Given the description of an element on the screen output the (x, y) to click on. 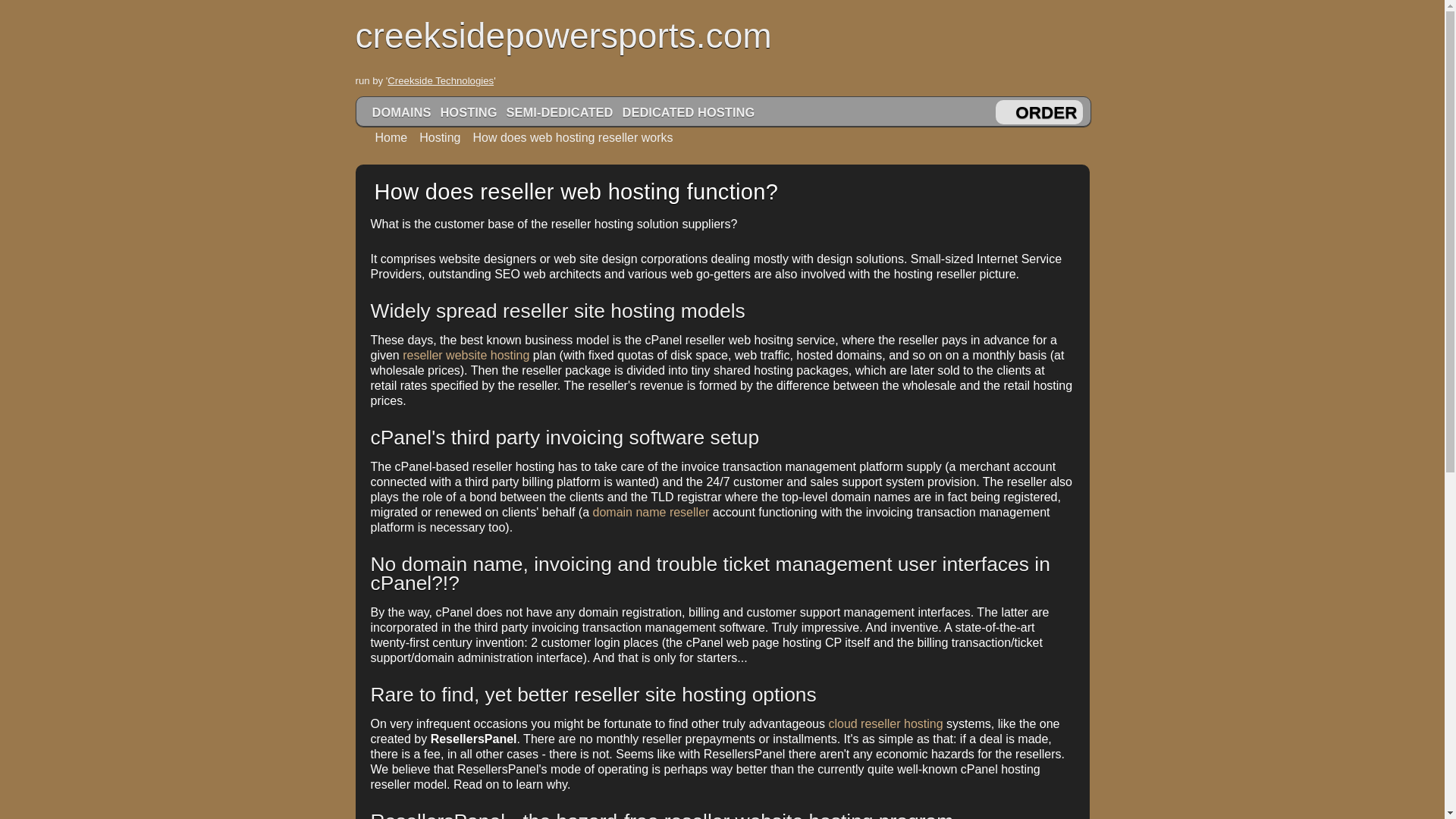
Hosting (433, 137)
reseller website hosting (466, 354)
HOSTING (467, 112)
domain name reseller (651, 512)
Home (384, 137)
cloud reseller hosting (885, 723)
DEDICATED HOSTING (687, 112)
ORDER (1045, 112)
Creekside Technologies (440, 80)
DOMAINS (401, 112)
SEMI-DEDICATED (559, 112)
